Given the description of an element on the screen output the (x, y) to click on. 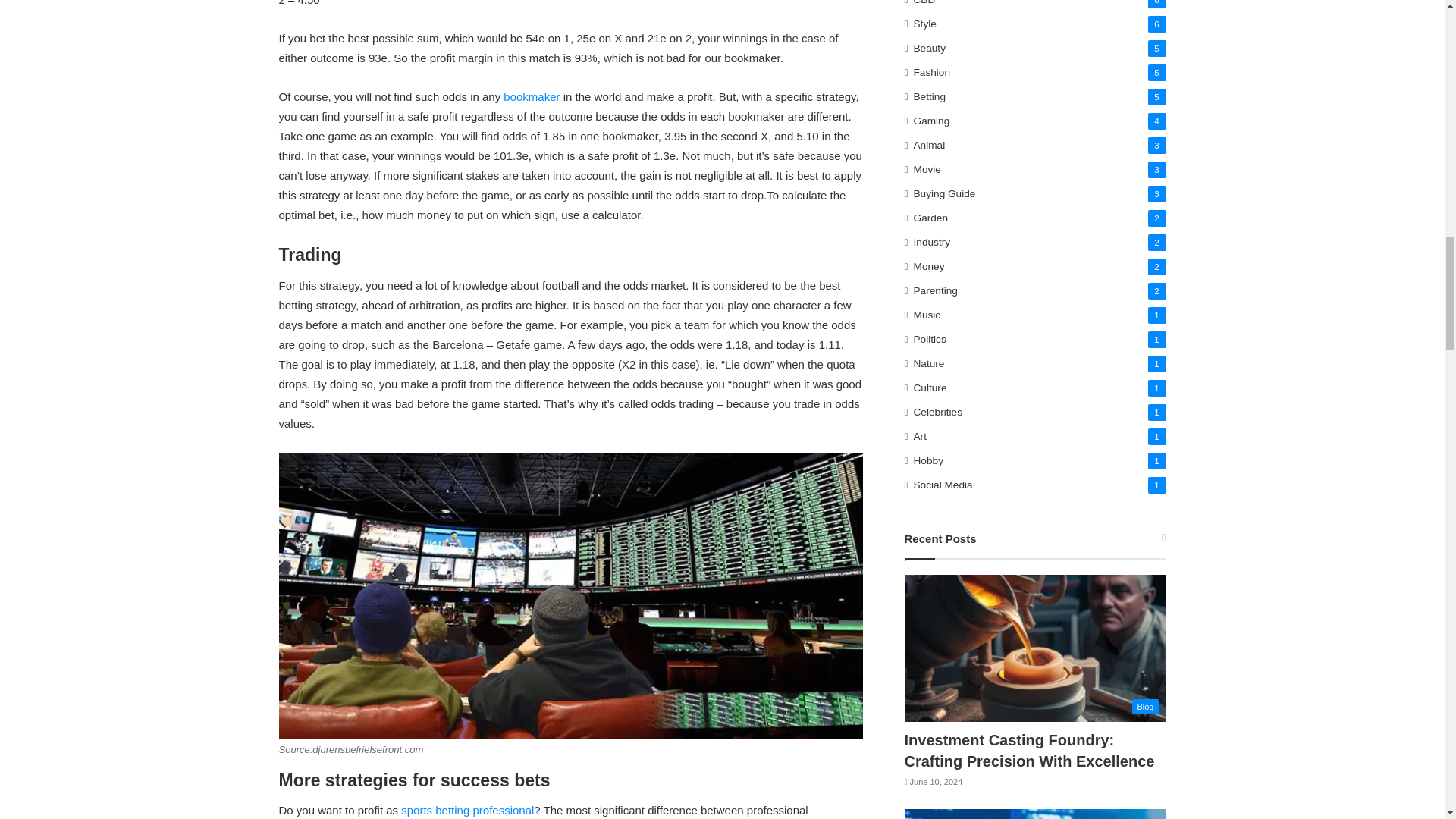
bookmaker (531, 96)
sports betting professional (467, 809)
